Given the description of an element on the screen output the (x, y) to click on. 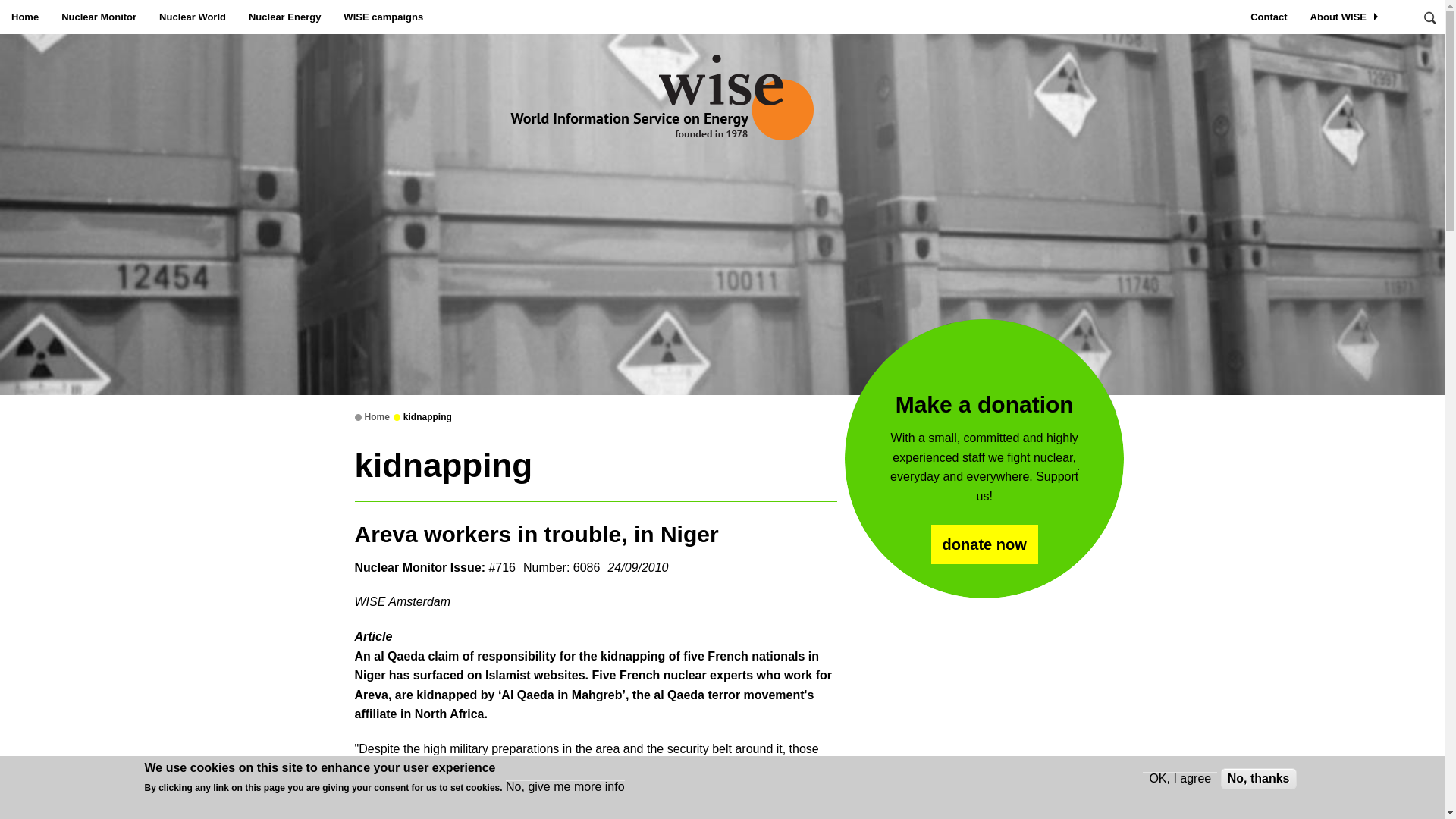
kidnapping (427, 416)
Home (24, 17)
donate now (984, 544)
Nuclear Monitor (98, 17)
WISE campaigns (382, 17)
Areva workers in trouble, in Niger (537, 534)
Home (376, 416)
About WISE (1345, 17)
Contact (1268, 17)
Nuclear World (192, 17)
Nuclear Energy (284, 17)
